Given the description of an element on the screen output the (x, y) to click on. 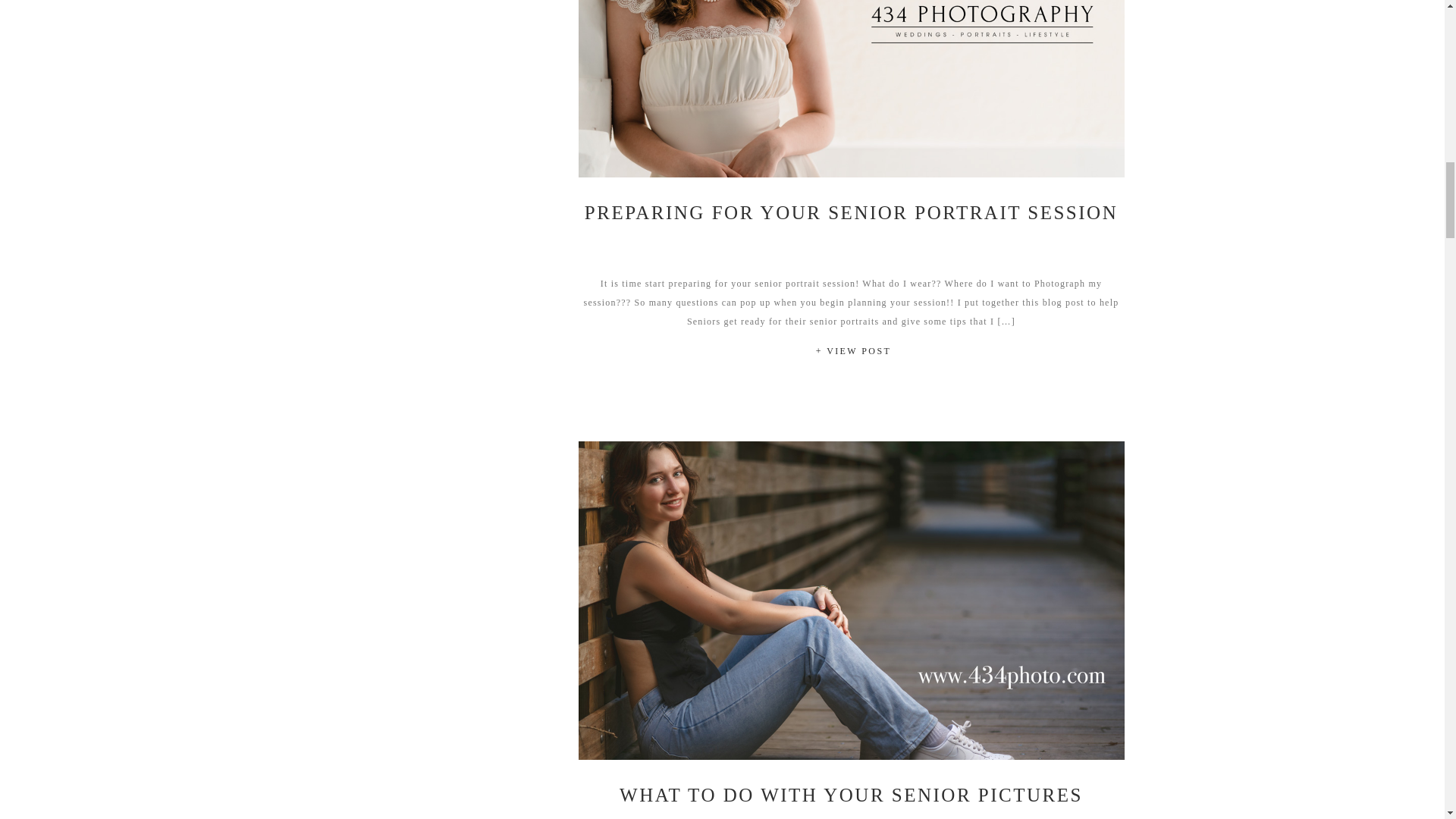
WHAT TO DO WITH YOUR SENIOR PICTURES (851, 794)
Preparing for your Senior Portrait Session (852, 353)
PREPARING FOR YOUR SENIOR PORTRAIT SESSION (851, 212)
Preparing for your Senior Portrait Session (851, 88)
